Given the description of an element on the screen output the (x, y) to click on. 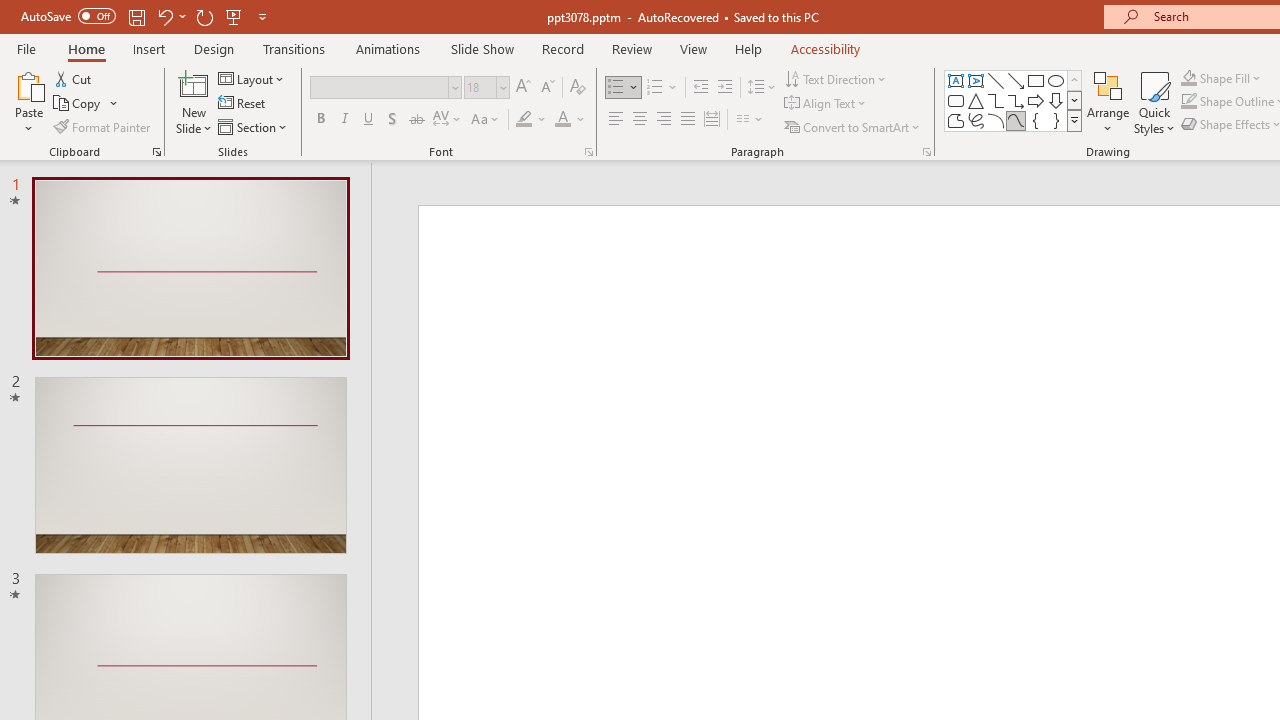
Arrow: Right (1035, 100)
Decrease Indent (700, 87)
Curve (1016, 120)
Shadow (392, 119)
Align Left (616, 119)
Text Highlight Color Yellow (524, 119)
Isosceles Triangle (975, 100)
Italic (344, 119)
Reset (243, 103)
Rectangle (1035, 80)
Text Highlight Color (531, 119)
